Given the description of an element on the screen output the (x, y) to click on. 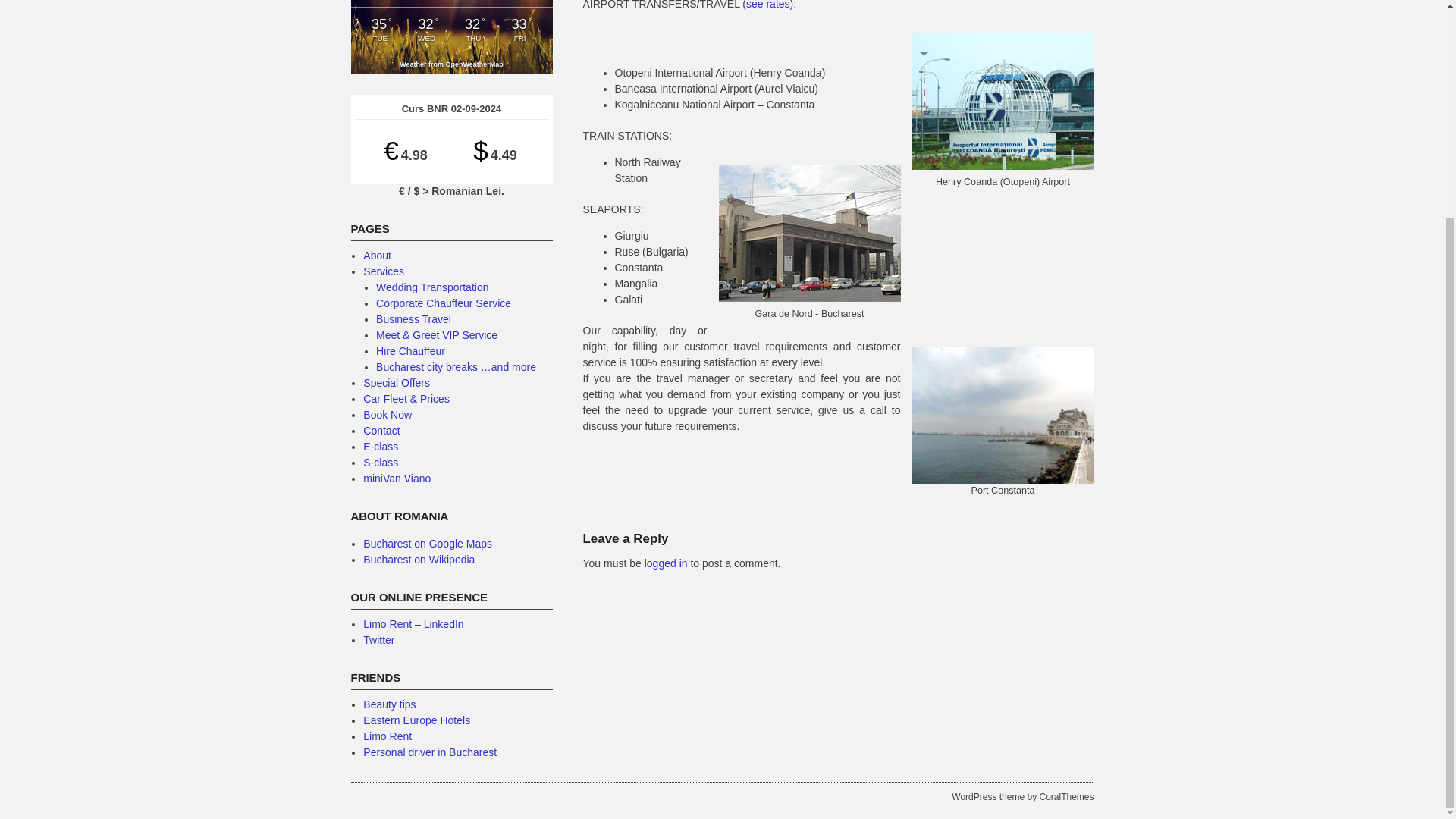
Wedding Transportation (431, 287)
S-class (379, 462)
E-class (379, 446)
Services (383, 271)
About (376, 255)
Business Travel (413, 318)
port-constanta (1002, 415)
miniVan Viano (396, 478)
Bucharest on Wikipedia (418, 559)
logged in (666, 563)
